Given the description of an element on the screen output the (x, y) to click on. 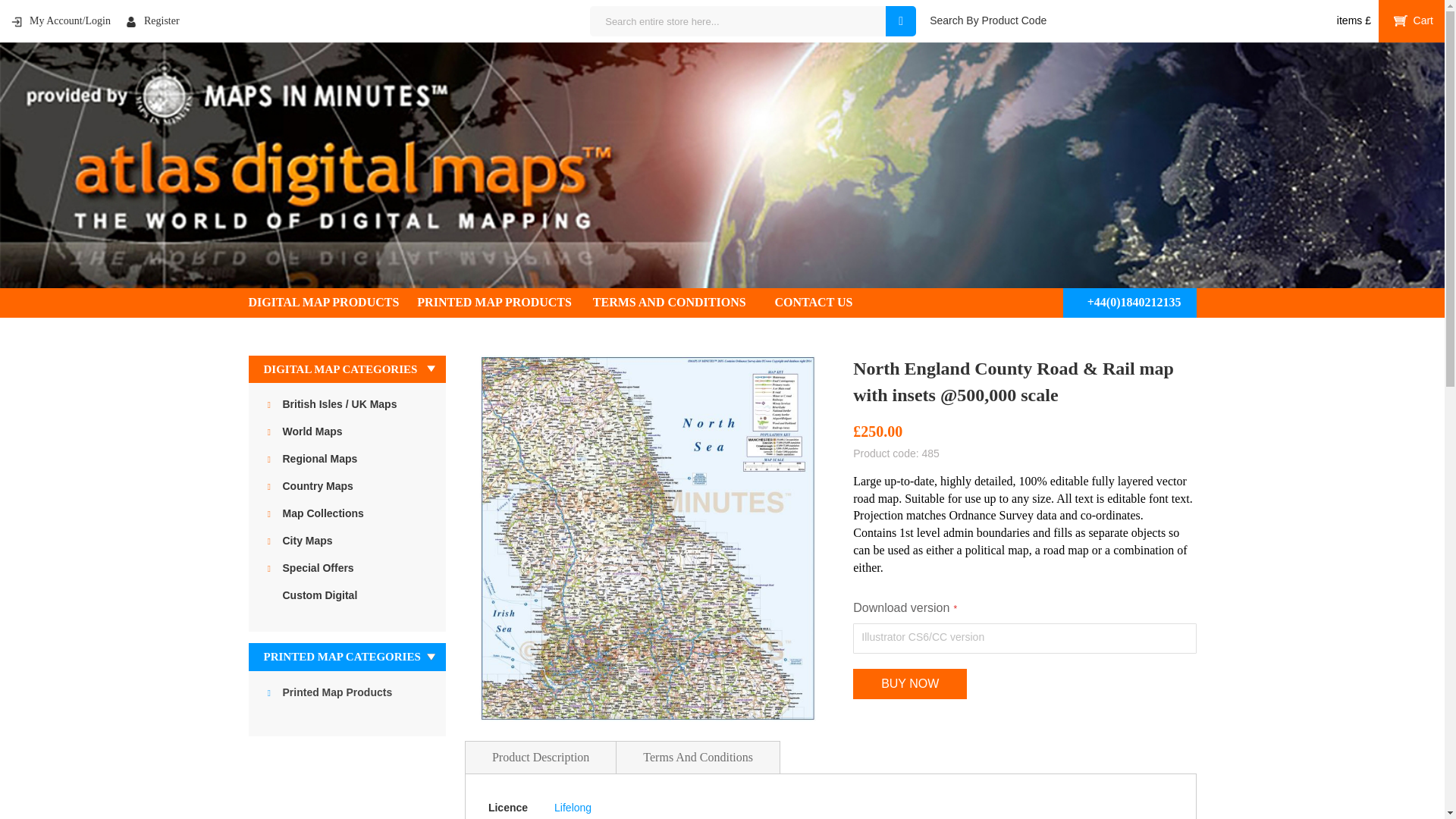
Search (900, 20)
Search (900, 20)
DIGITAL MAP PRODUCTS (332, 302)
Register (152, 20)
Buy Now (909, 684)
Search By Product Code (988, 20)
